Given the description of an element on the screen output the (x, y) to click on. 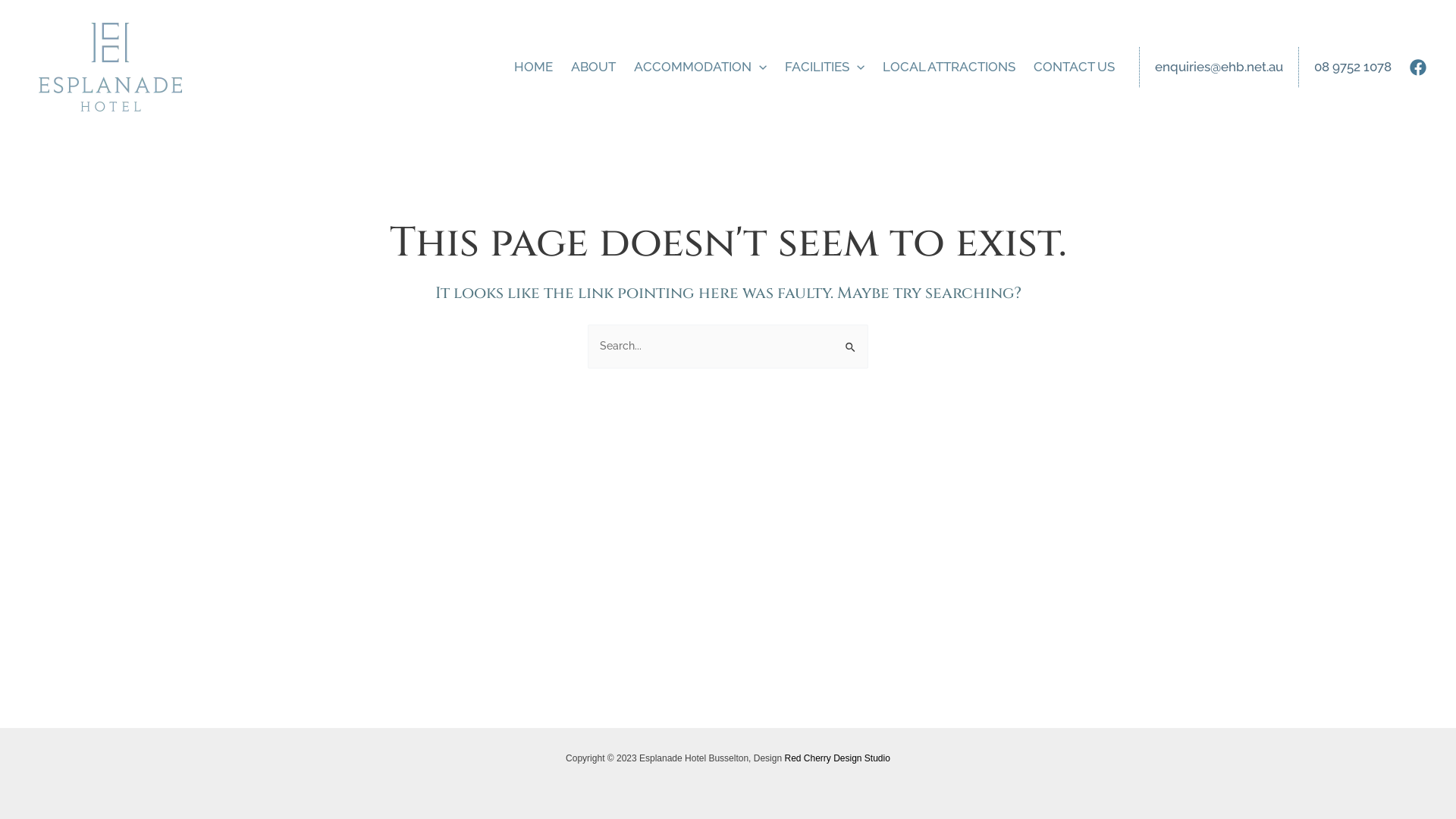
ABOUT Element type: text (592, 67)
Search Element type: text (851, 339)
Red Cherry Design Studio Element type: text (836, 758)
enquiries@ehb.net.au Element type: text (1218, 66)
CONTACT US Element type: text (1073, 67)
LOCAL ATTRACTIONS Element type: text (948, 67)
ACCOMMODATION Element type: text (699, 67)
HOME Element type: text (533, 67)
08 9752 1078 Element type: text (1352, 66)
FACILITIES Element type: text (824, 67)
